Given the description of an element on the screen output the (x, y) to click on. 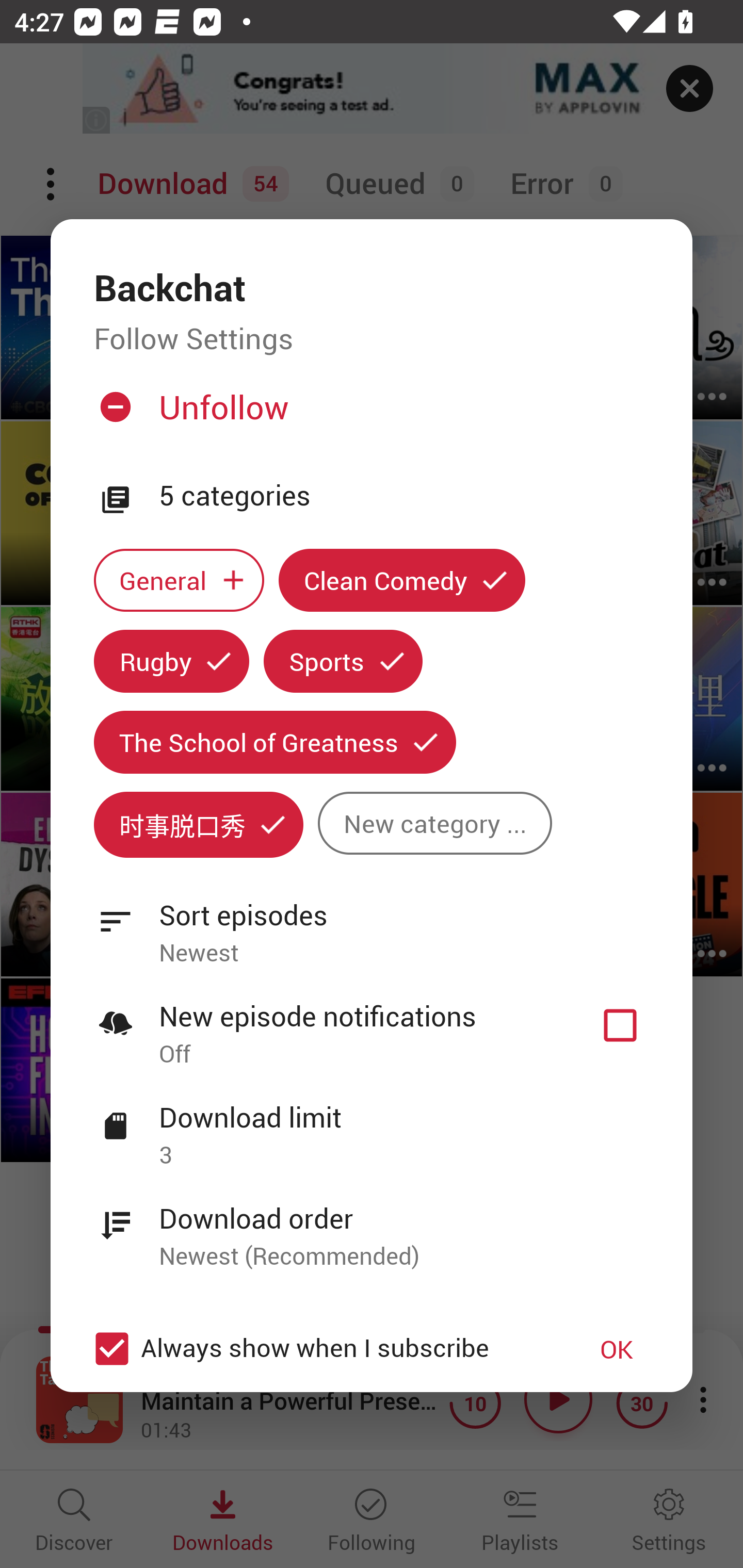
Unfollow (369, 415)
5 categories (404, 495)
General (178, 579)
Clean Comedy (401, 579)
Rugby (170, 661)
Sports (342, 661)
The School of Greatness (274, 741)
时事脱口秀 (198, 824)
New category ... (435, 822)
Sort episodes Newest (371, 922)
New episode notifications (620, 1025)
Download limit 3 (371, 1125)
Download order Newest (Recommended) (371, 1226)
OK (616, 1349)
Always show when I subscribe (320, 1349)
